Given the description of an element on the screen output the (x, y) to click on. 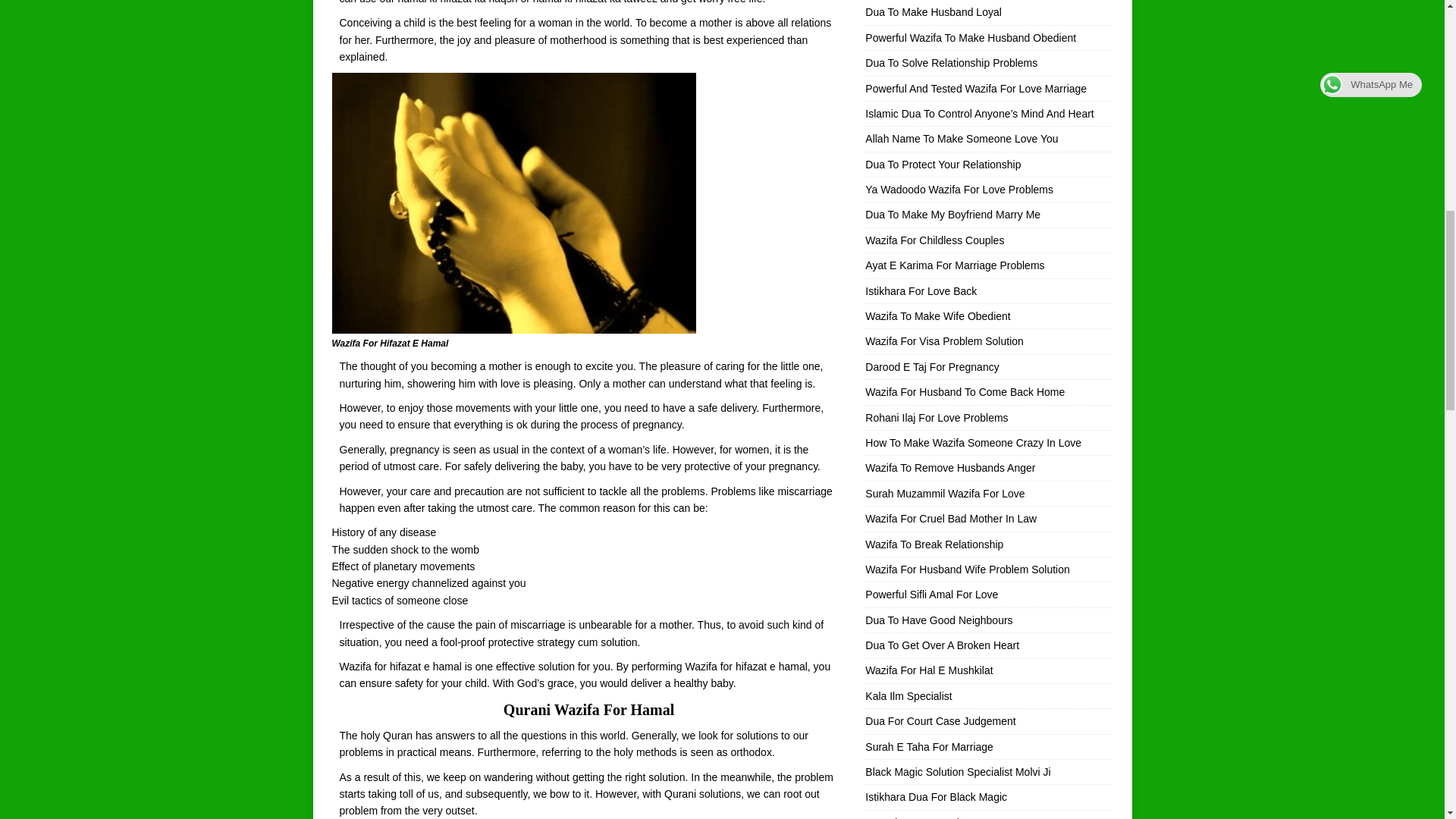
Powerful And Tested Wazifa For Love Marriage (975, 87)
Allah Name To Make Someone Love You (961, 138)
Dua To Make Husband Loyal (932, 11)
Dua To Solve Relationship Problems (950, 62)
Powerful Wazifa To Make Husband Obedient (969, 37)
